Given the description of an element on the screen output the (x, y) to click on. 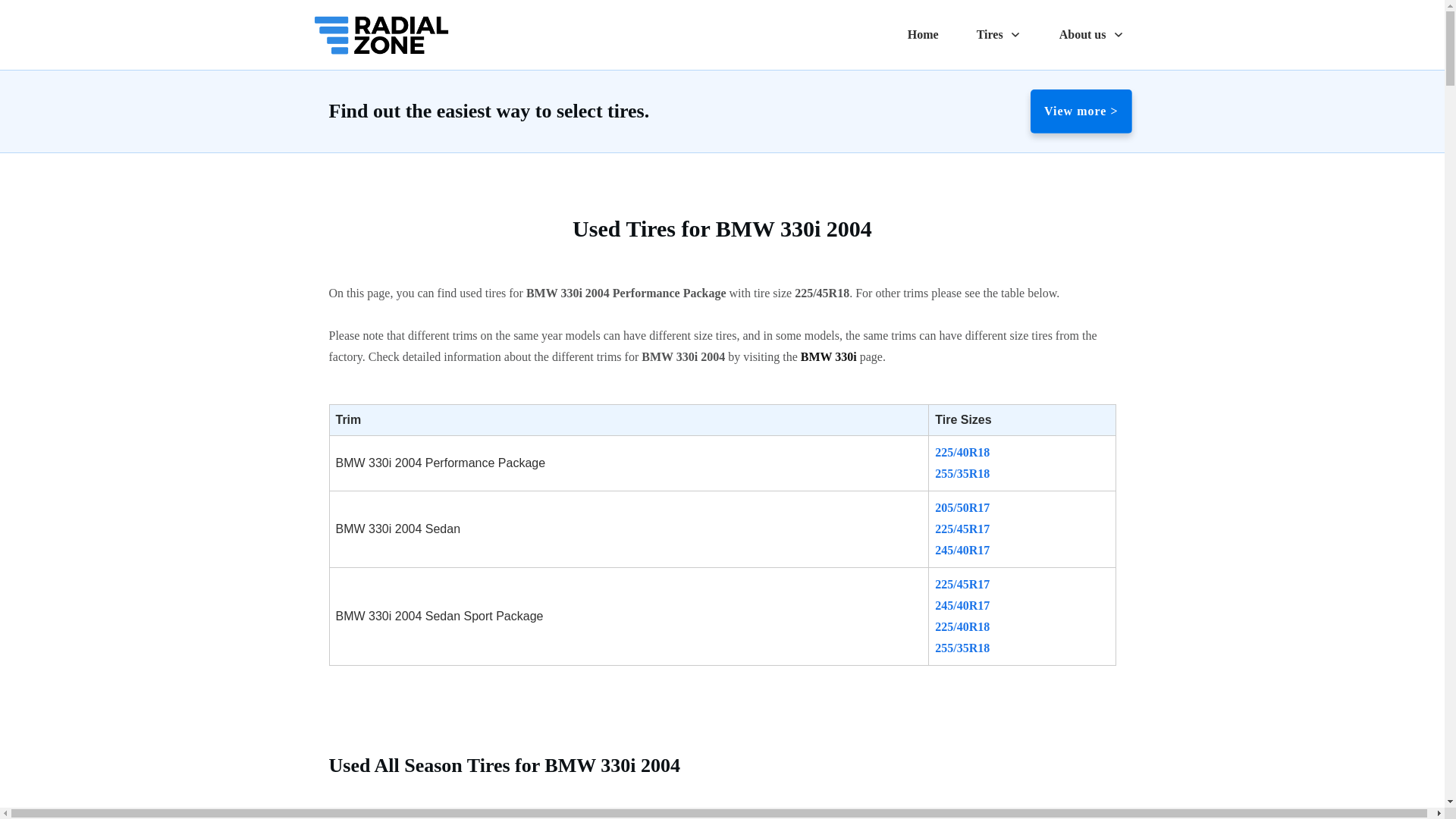
Home (923, 34)
About us (1091, 34)
Tires (999, 34)
BMW 330i (828, 356)
